Given the description of an element on the screen output the (x, y) to click on. 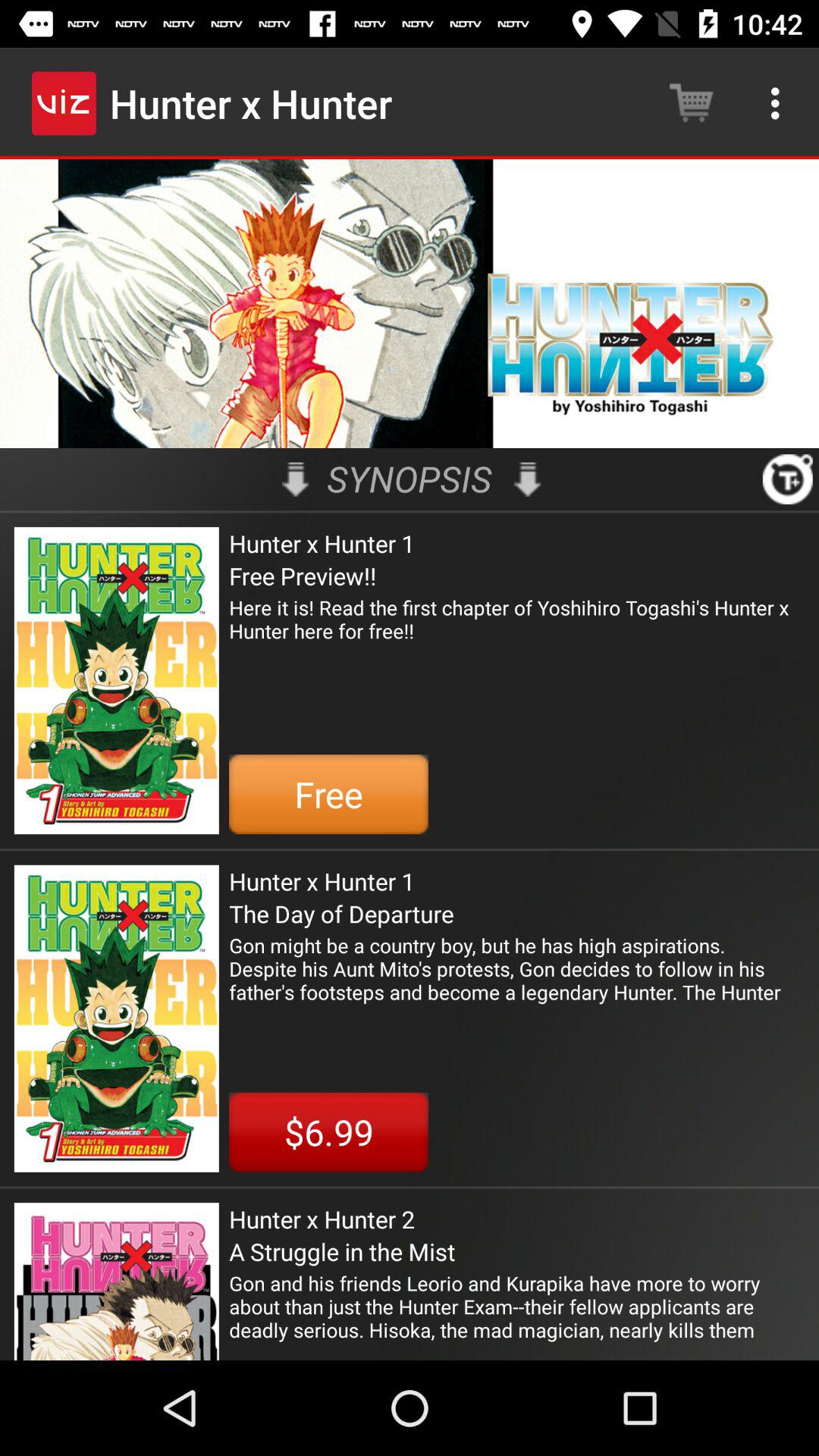
select the icon below free preview!! icon (516, 630)
